Given the description of an element on the screen output the (x, y) to click on. 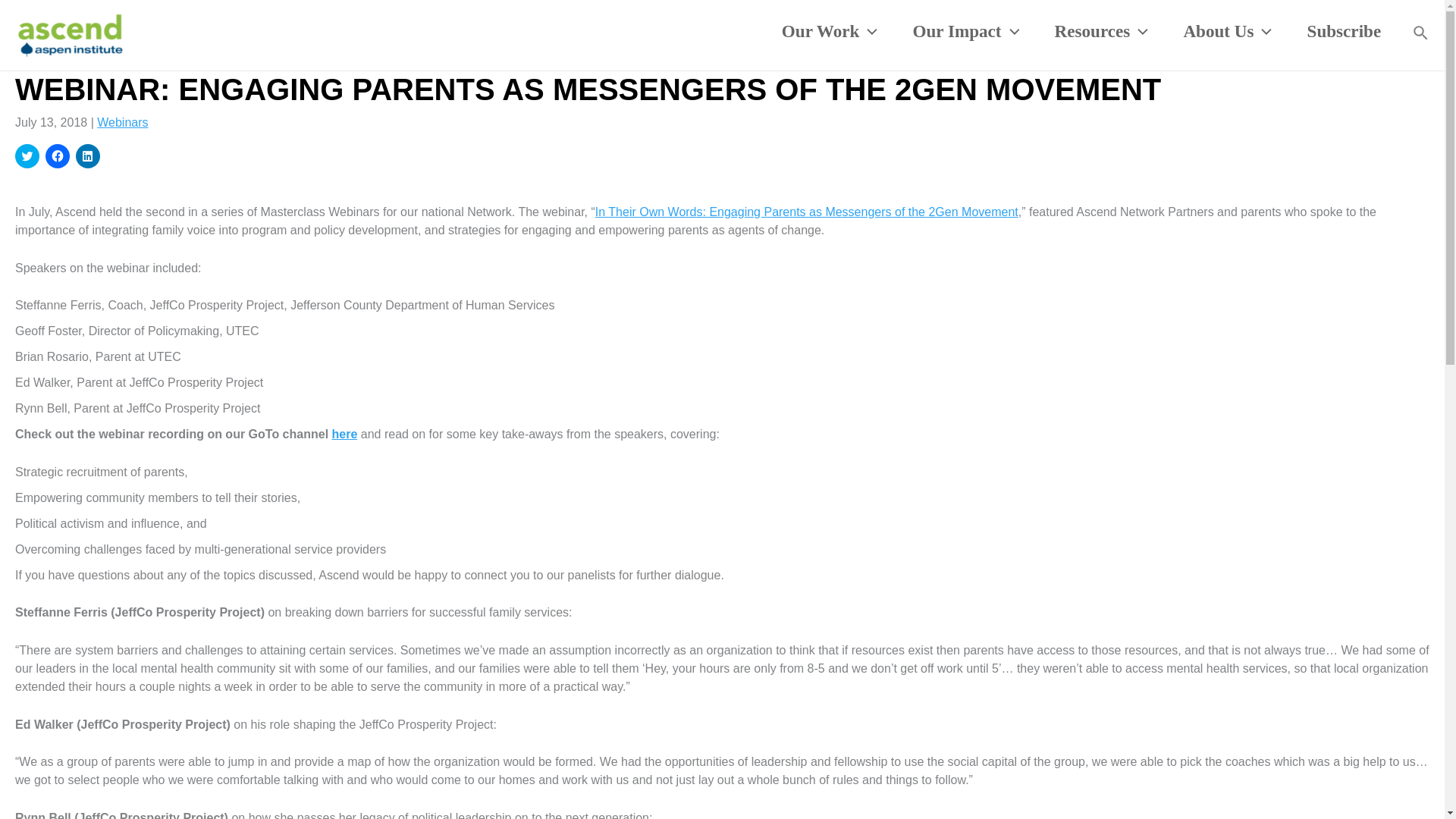
Click to share on Facebook (57, 156)
Our Impact (965, 31)
Click to share on LinkedIn (87, 156)
Resources (1101, 31)
Our Work (829, 31)
About Us (1227, 31)
Subscribe (1342, 31)
Click to share on Twitter (26, 156)
